Given the description of an element on the screen output the (x, y) to click on. 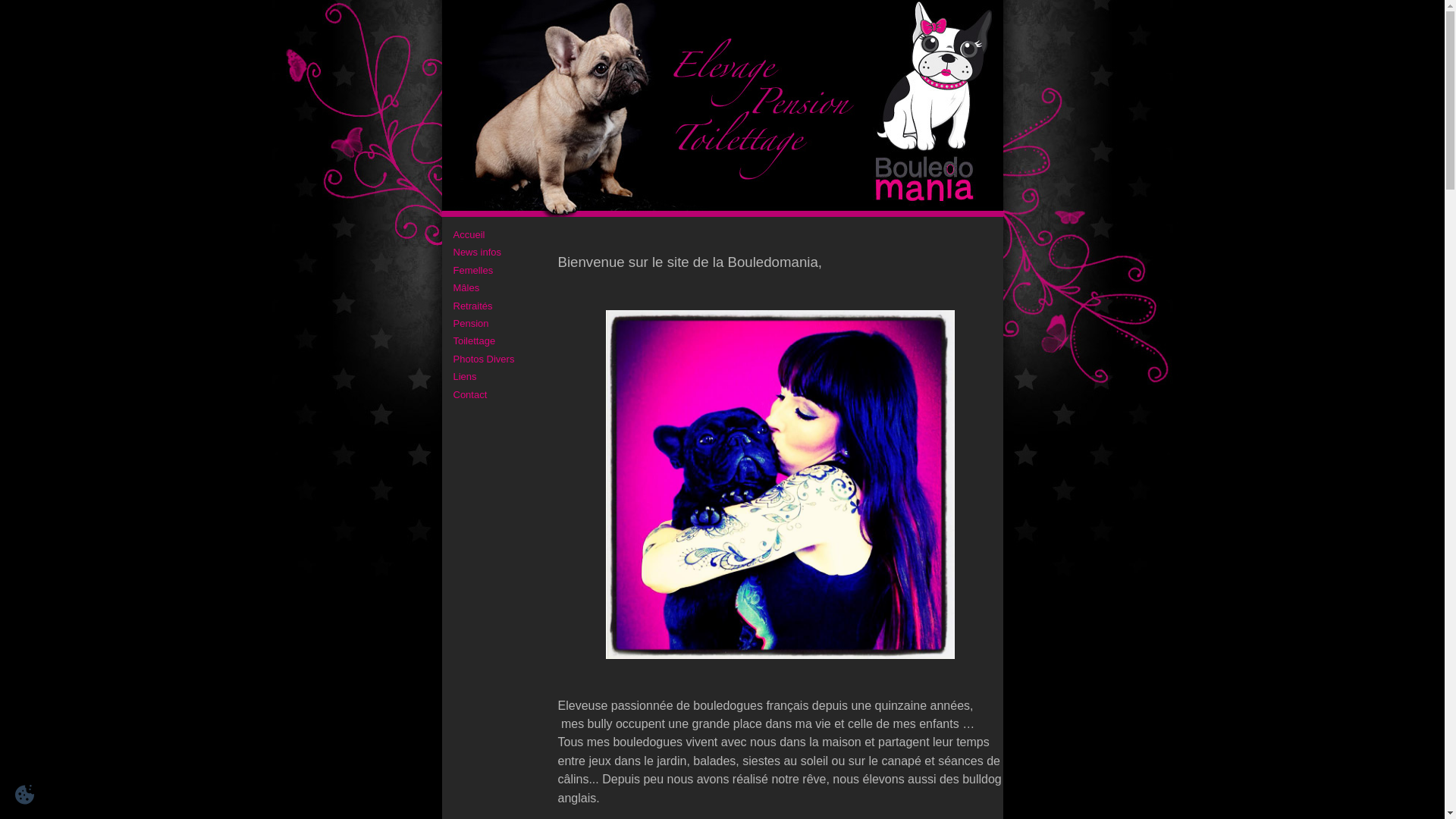
Pension Element type: text (471, 323)
Accueil Element type: text (469, 234)
Photos Divers Element type: text (483, 358)
Contact Element type: text (470, 394)
Toilettage Element type: text (474, 340)
News infos Element type: text (477, 251)
Liens Element type: text (464, 376)
Femelles Element type: text (473, 270)
